Given the description of an element on the screen output the (x, y) to click on. 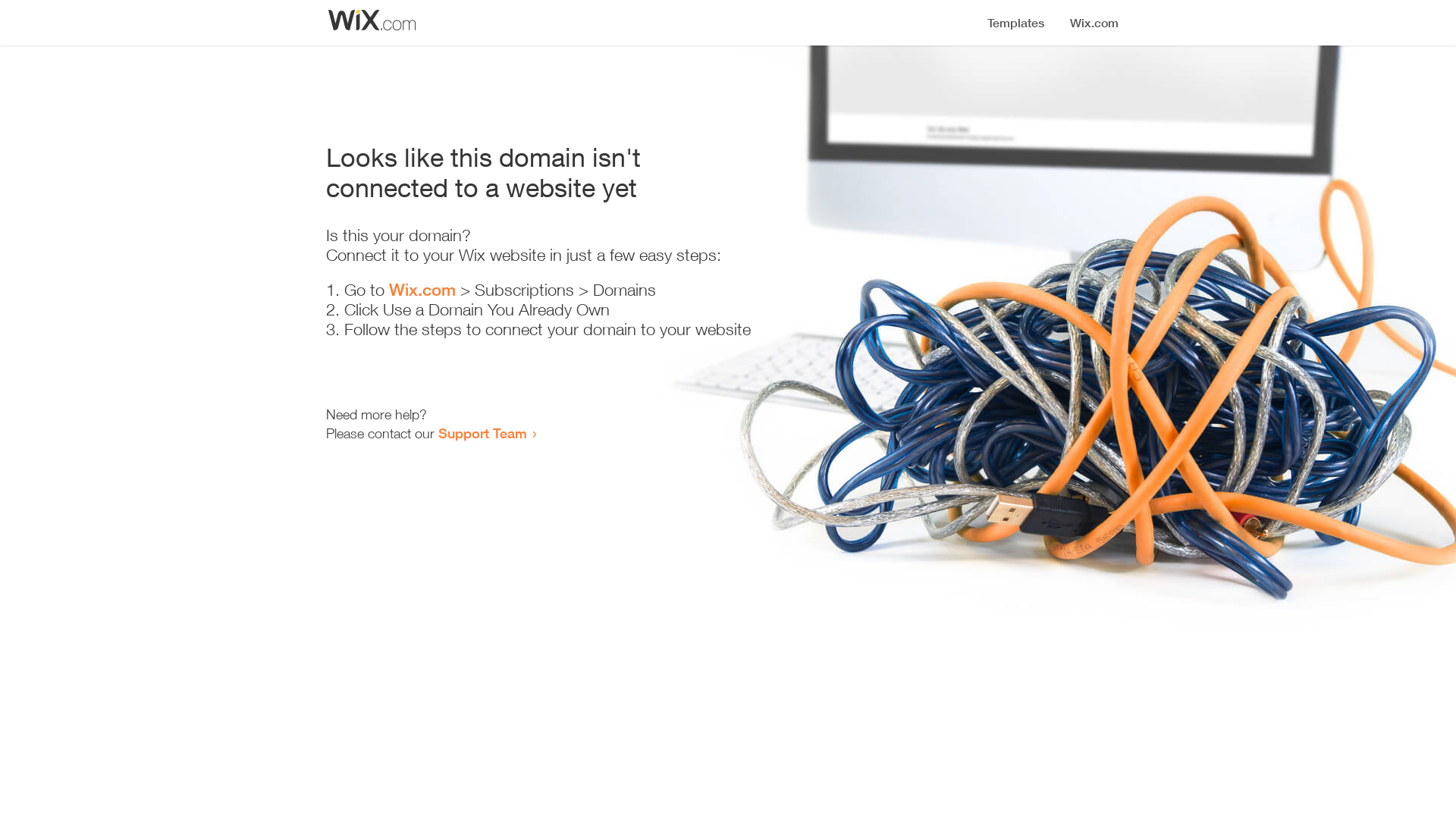
Wix.com Element type: text (422, 289)
Support Team Element type: text (482, 432)
